Given the description of an element on the screen output the (x, y) to click on. 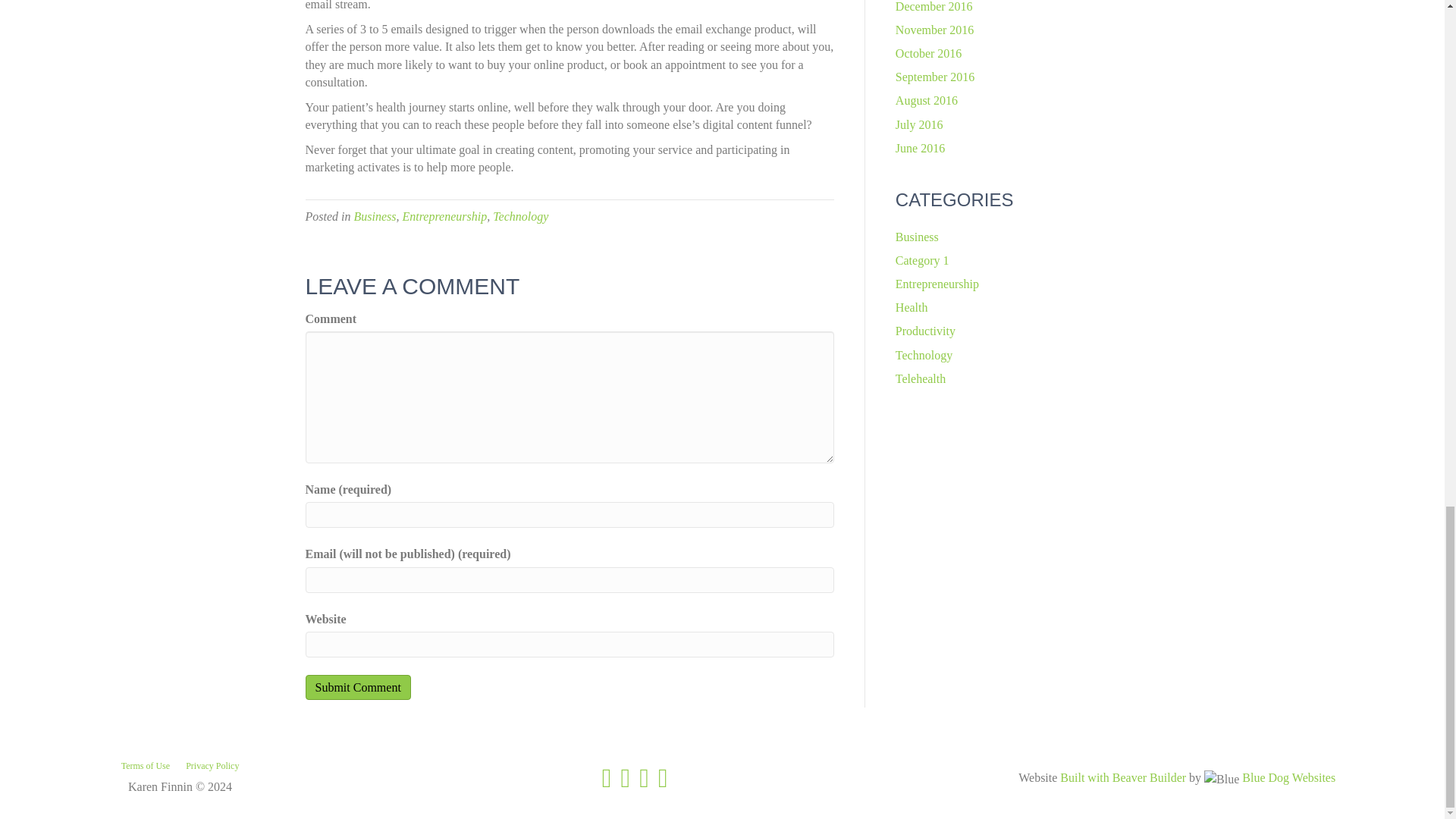
Entrepreneurship (443, 215)
Submit Comment (357, 687)
Submit Comment (357, 687)
Technology (520, 215)
Business (374, 215)
